Given the description of an element on the screen output the (x, y) to click on. 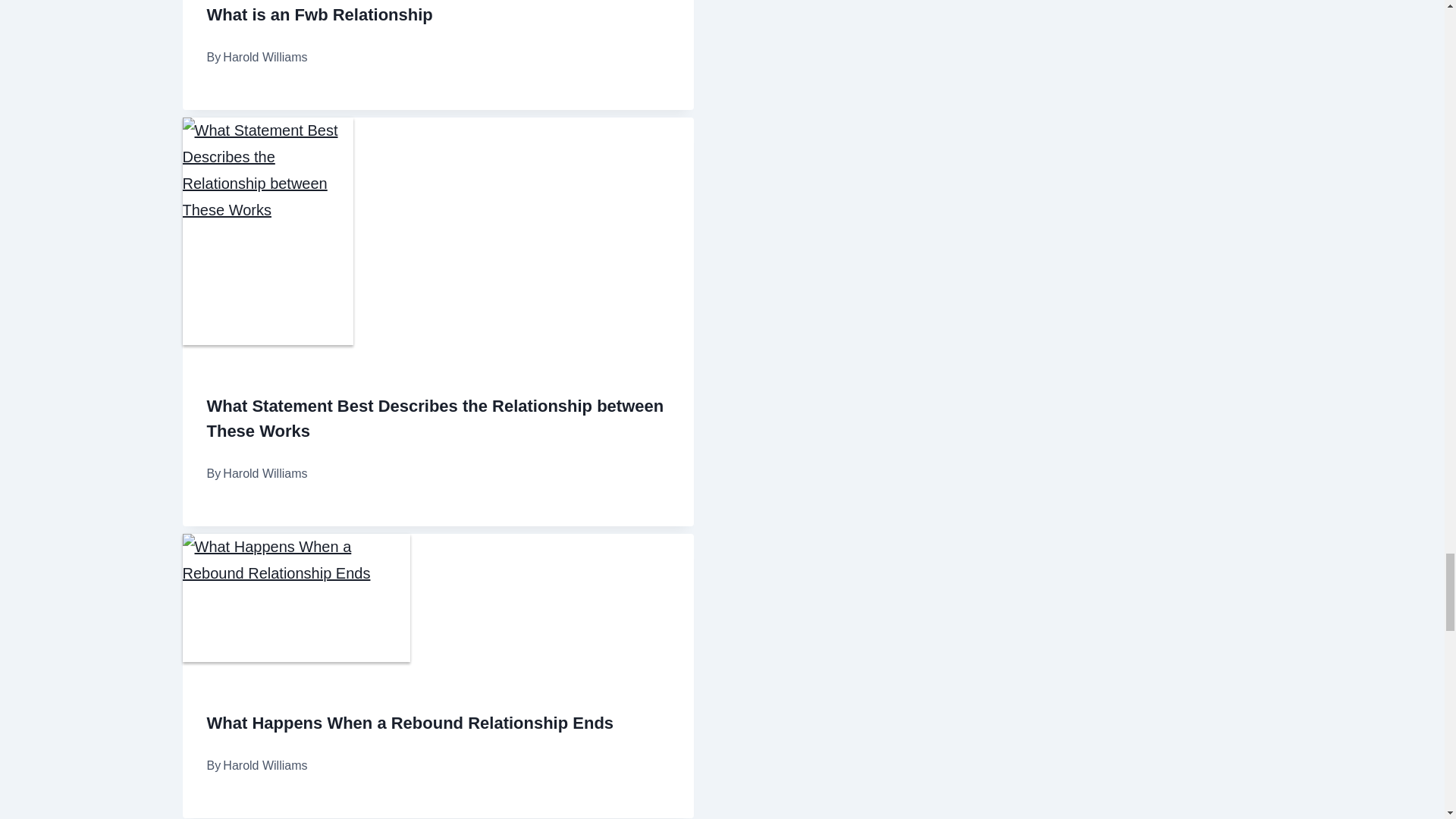
What is an Fwb Relationship (319, 14)
